Given the description of an element on the screen output the (x, y) to click on. 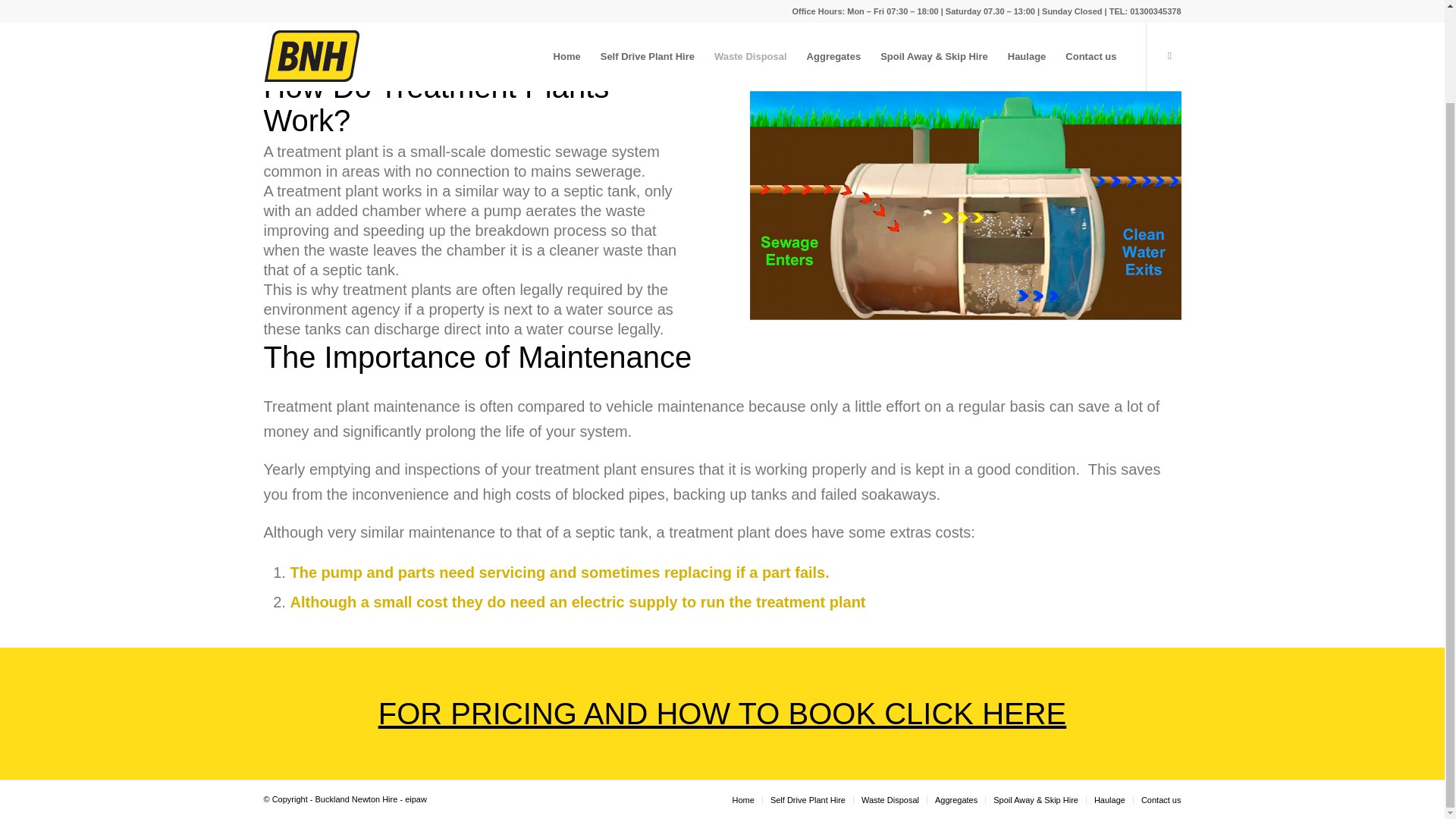
FOR PRICING AND HOW TO BOOK CLICK HERE (722, 713)
eipaw (415, 798)
Haulage (1109, 799)
Aggregates (955, 799)
Contact us (1160, 799)
Home (743, 799)
Self Drive Plant Hire (807, 799)
Waste Disposal (889, 799)
